Given the description of an element on the screen output the (x, y) to click on. 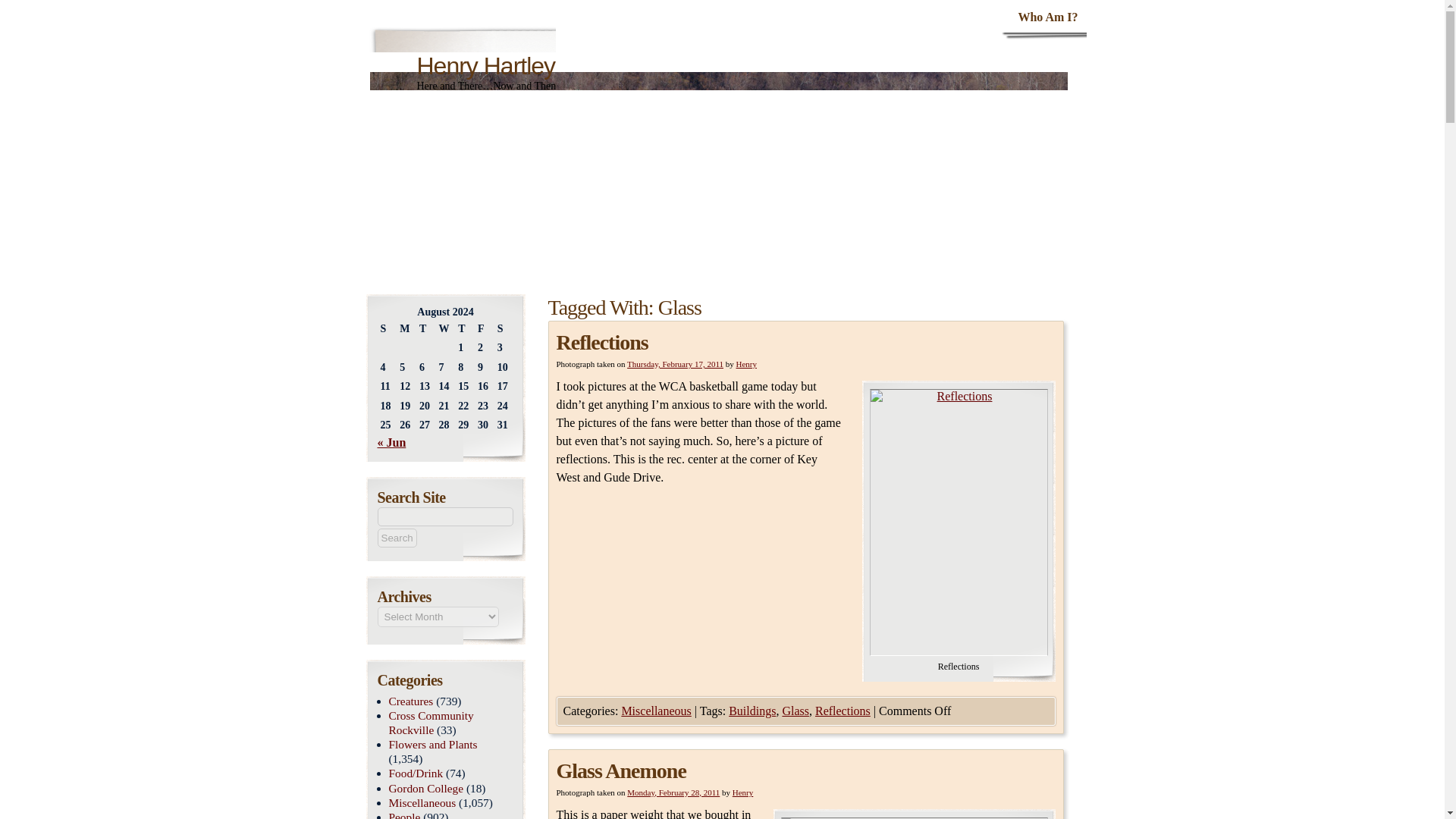
Monday, February 28, 2011 (673, 791)
Buildings (752, 710)
Henry Hartley (486, 64)
Glass Anemone (620, 770)
Search (396, 537)
February 17, 2011 at 12:50 (675, 363)
February 28, 2011 at 21:42 (673, 791)
Miscellaneous (655, 710)
View all posts by Henry (746, 363)
Reflections (601, 341)
View all posts by Henry (743, 791)
Who Am I? (1047, 17)
Thursday, February 17, 2011 (675, 363)
Glass (795, 710)
Reflections (842, 710)
